Given the description of an element on the screen output the (x, y) to click on. 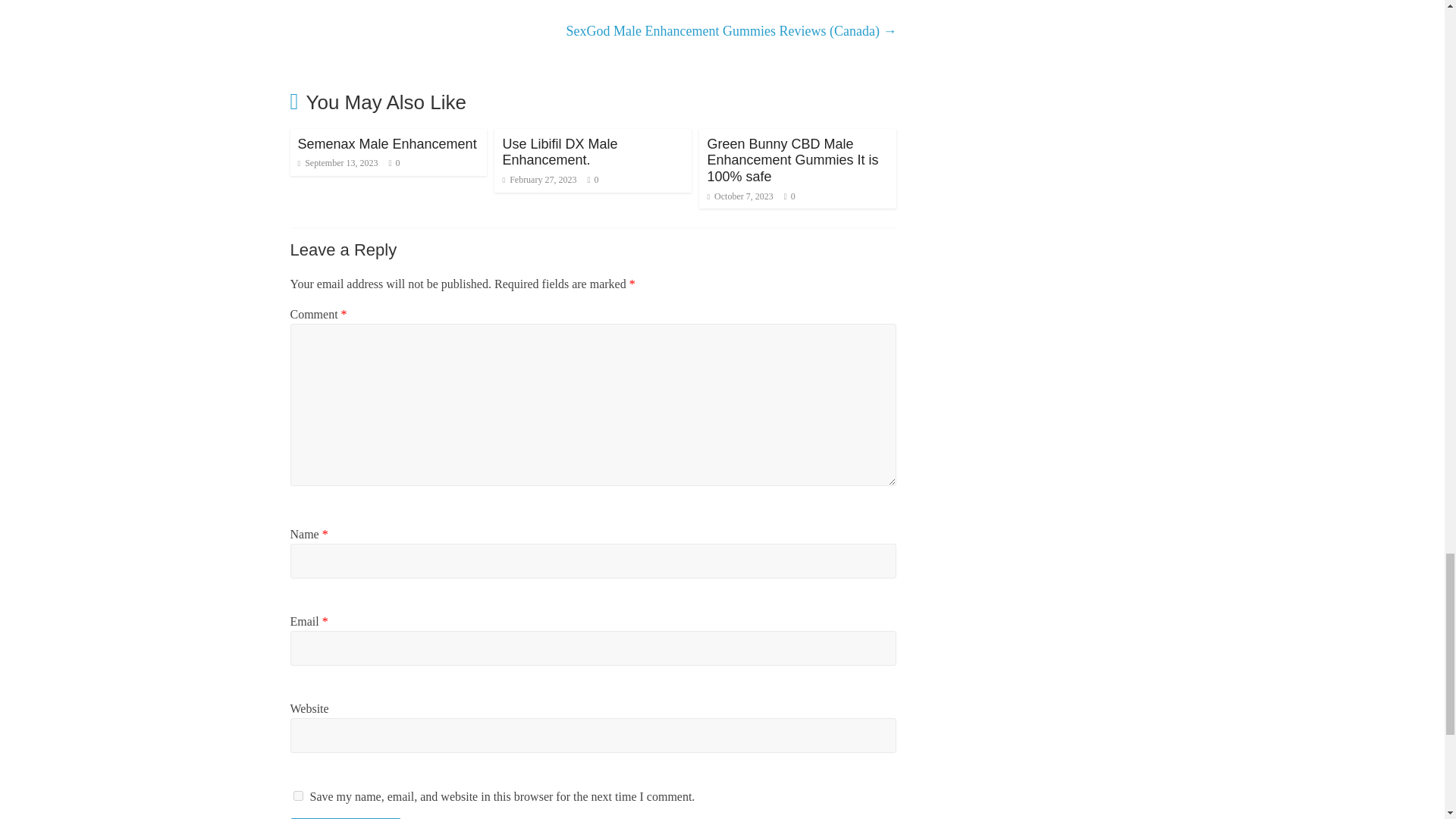
Semenax Male Enhancement (386, 143)
February 27, 2023 (539, 179)
Use Libifil DX Male Enhancement. (559, 152)
October 7, 2023 (739, 195)
yes (297, 795)
4:22 pm (539, 179)
Semenax Male Enhancement (386, 143)
7:09 am (337, 163)
September 13, 2023 (337, 163)
